Given the description of an element on the screen output the (x, y) to click on. 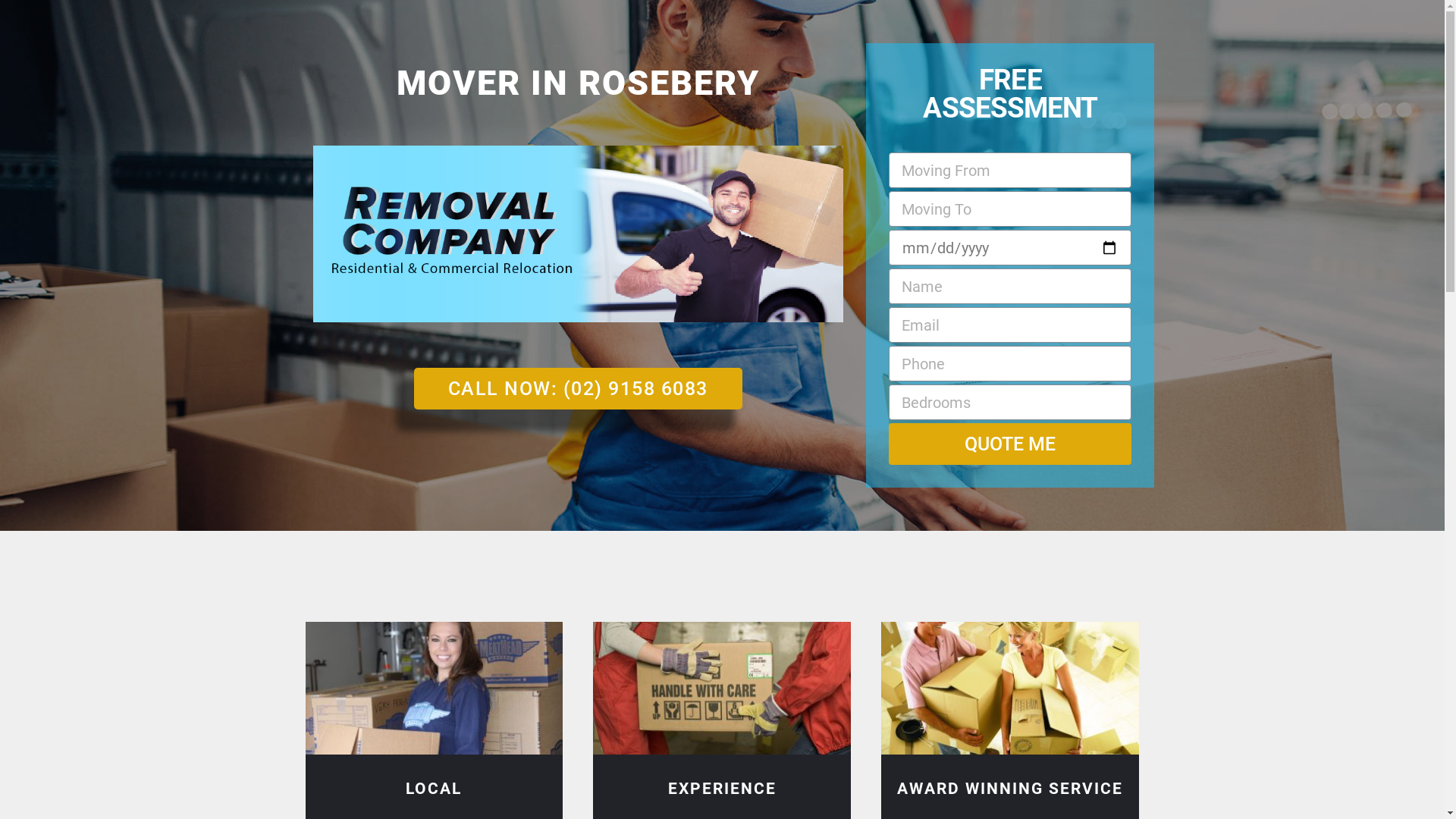
QUOTE ME Element type: text (1009, 443)
Local Rosebery Removalist Element type: hover (433, 687)
CALL NOW: (02) 9158 6083 Element type: text (578, 388)
Award Winning Removal Services Rosebery Element type: hover (1010, 687)
Experienced Rosebery Removalists Element type: hover (721, 687)
